Given the description of an element on the screen output the (x, y) to click on. 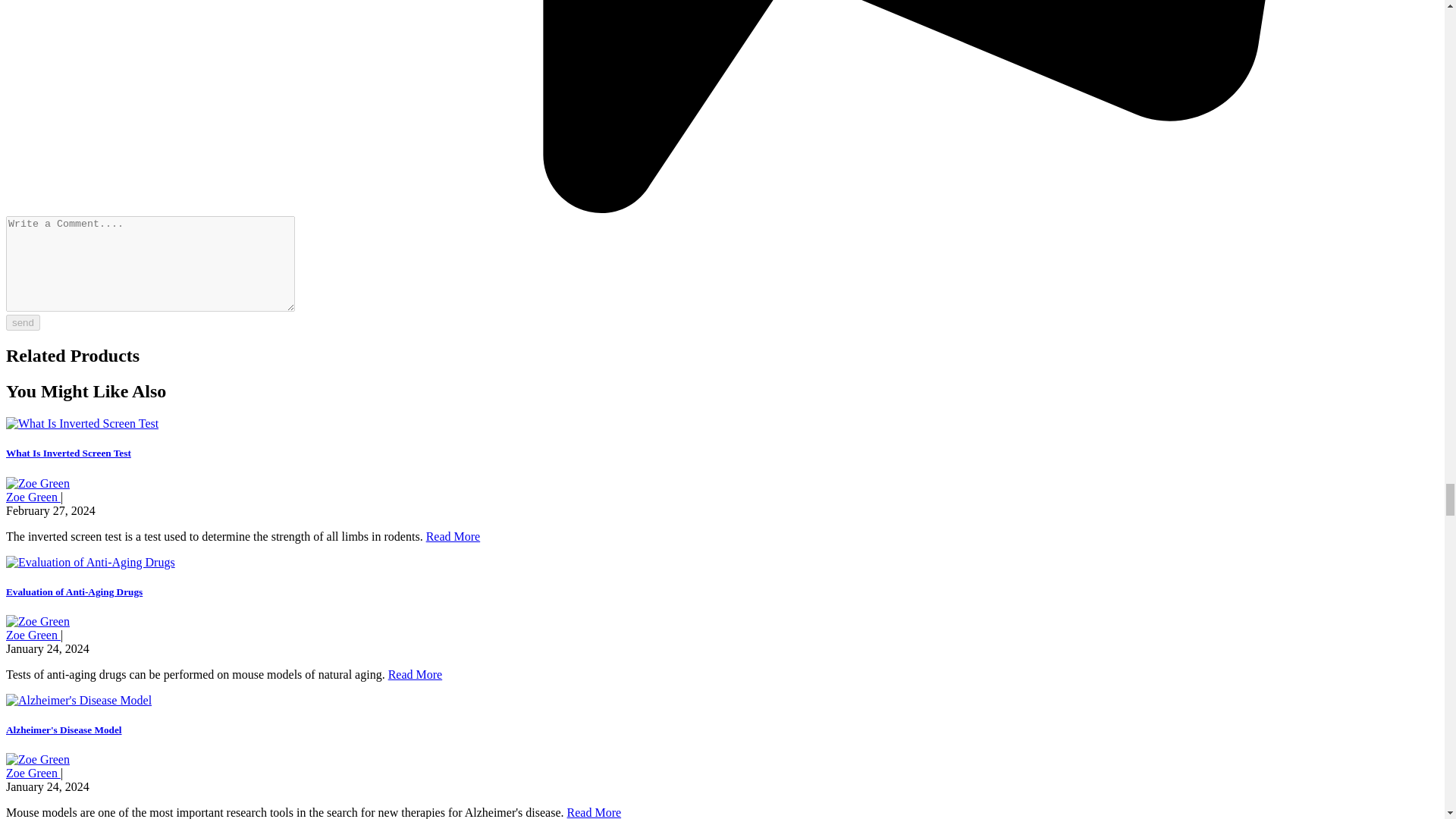
Alzheimer's Disease Model (63, 729)
Read More (594, 812)
Read More (453, 535)
send (22, 322)
Read More (415, 674)
What Is Inverted Screen Test (68, 452)
Evaluation of Anti-Aging Drugs (73, 591)
